Given the description of an element on the screen output the (x, y) to click on. 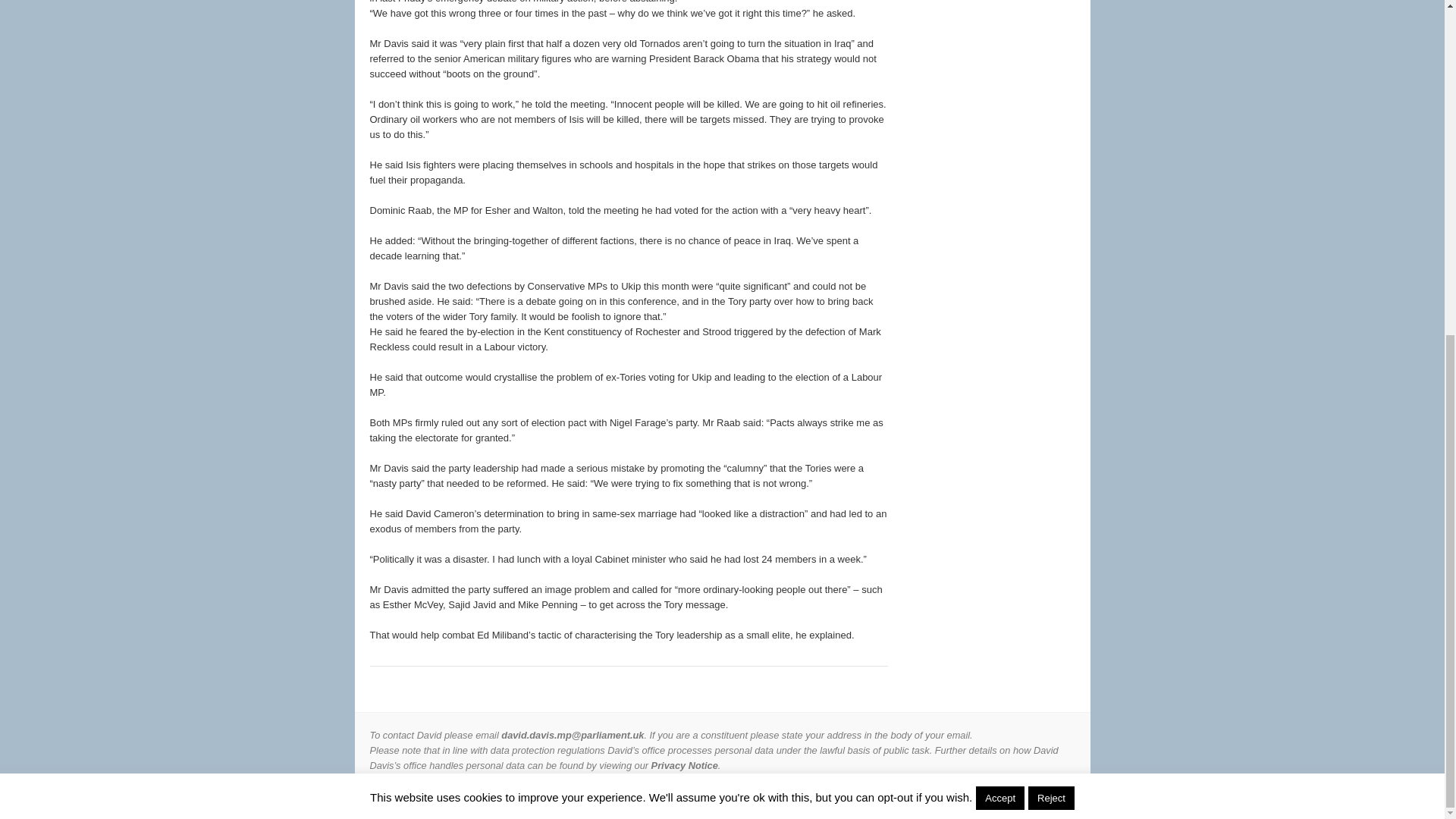
Privacy Notice (683, 765)
Accept (1000, 236)
Blue Ice Website Design - WordPress Websites (1059, 795)
Stuart Smitheringale. WordPress Websites. (1024, 795)
Rt Hon David Davis MP (457, 795)
stuart (1024, 795)
Reject (1050, 236)
blue ice (1059, 795)
